Given the description of an element on the screen output the (x, y) to click on. 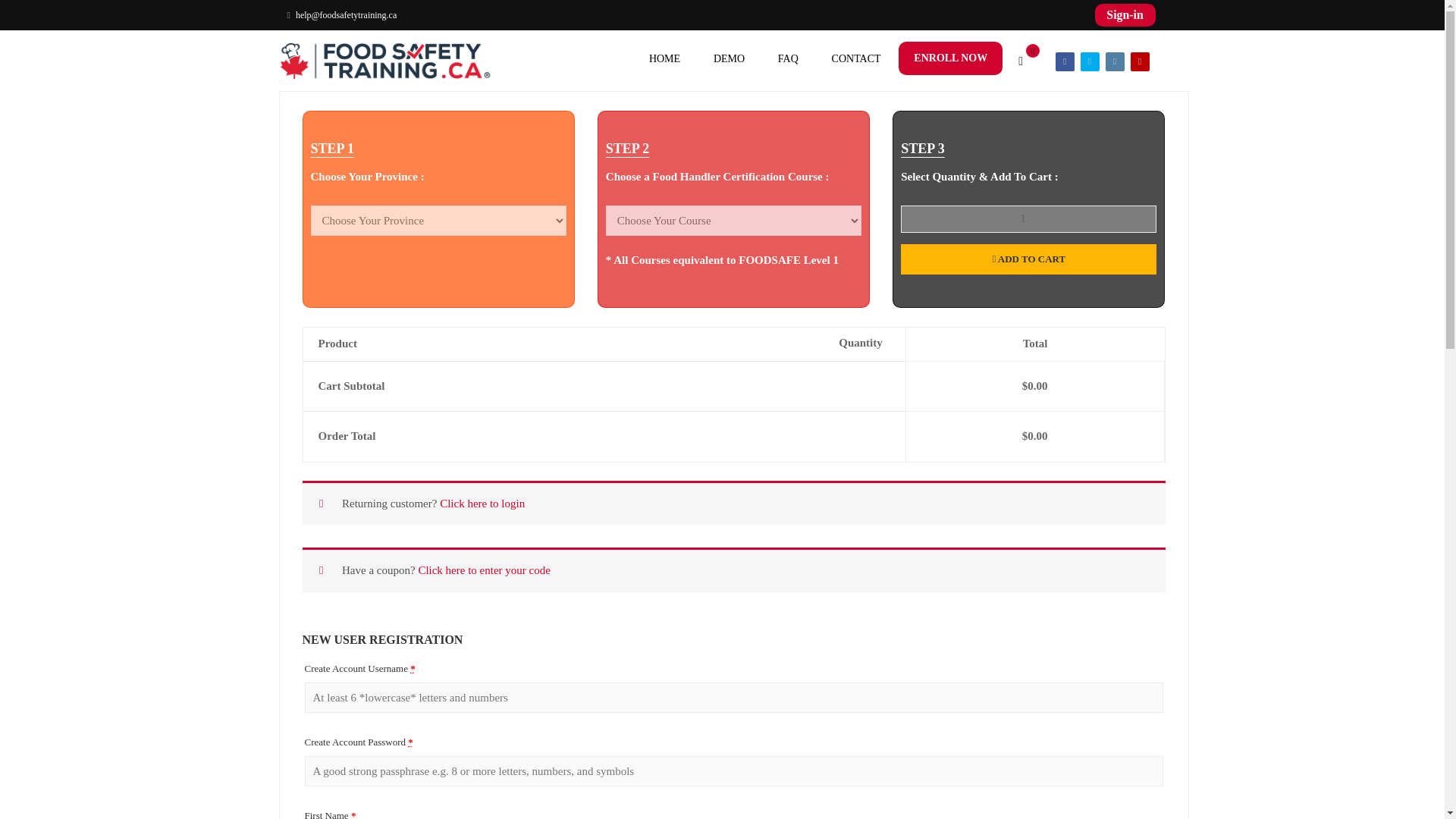
CONTACT (856, 64)
Click here to login (481, 503)
FAQ (787, 64)
Facebook (1064, 61)
Twitter (1089, 61)
Sign-in (1124, 14)
Instagram (1114, 61)
HOME (664, 64)
Quantity (1028, 218)
1 (1028, 218)
Youtube (1138, 61)
FoodSafetyTraining.ca -  (385, 60)
DEMO (729, 64)
ENROLL NOW (950, 58)
